Given the description of an element on the screen output the (x, y) to click on. 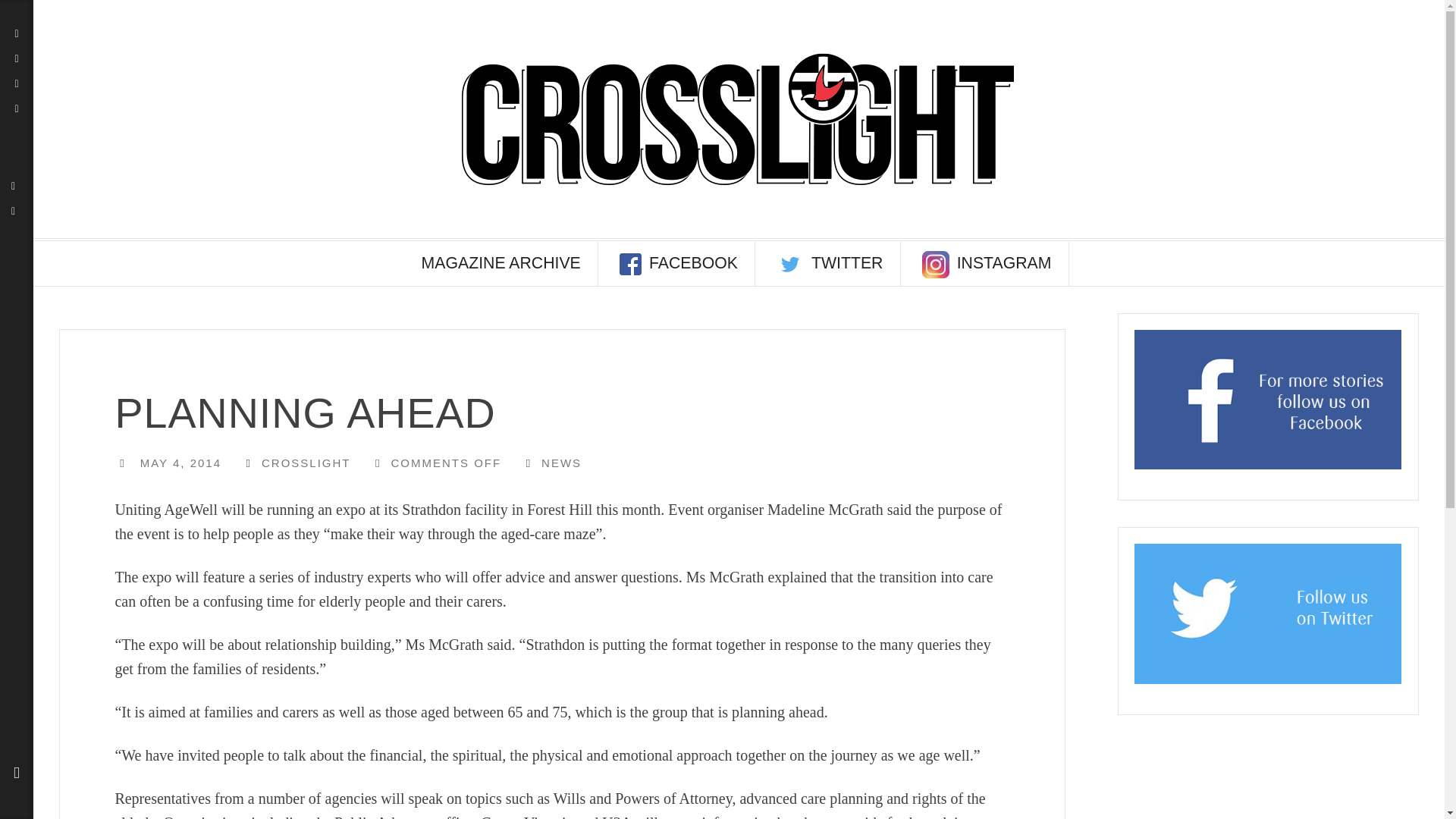
Twitter (13, 185)
CROSSLIGHT (306, 462)
Posts by Crosslight (306, 462)
MAGAZINE ARCHIVE (500, 262)
TWITTER (828, 262)
NEWS (560, 462)
INSTAGRAM (986, 262)
RSS (16, 83)
FACEBOOK (678, 262)
Facebook (13, 211)
